Given the description of an element on the screen output the (x, y) to click on. 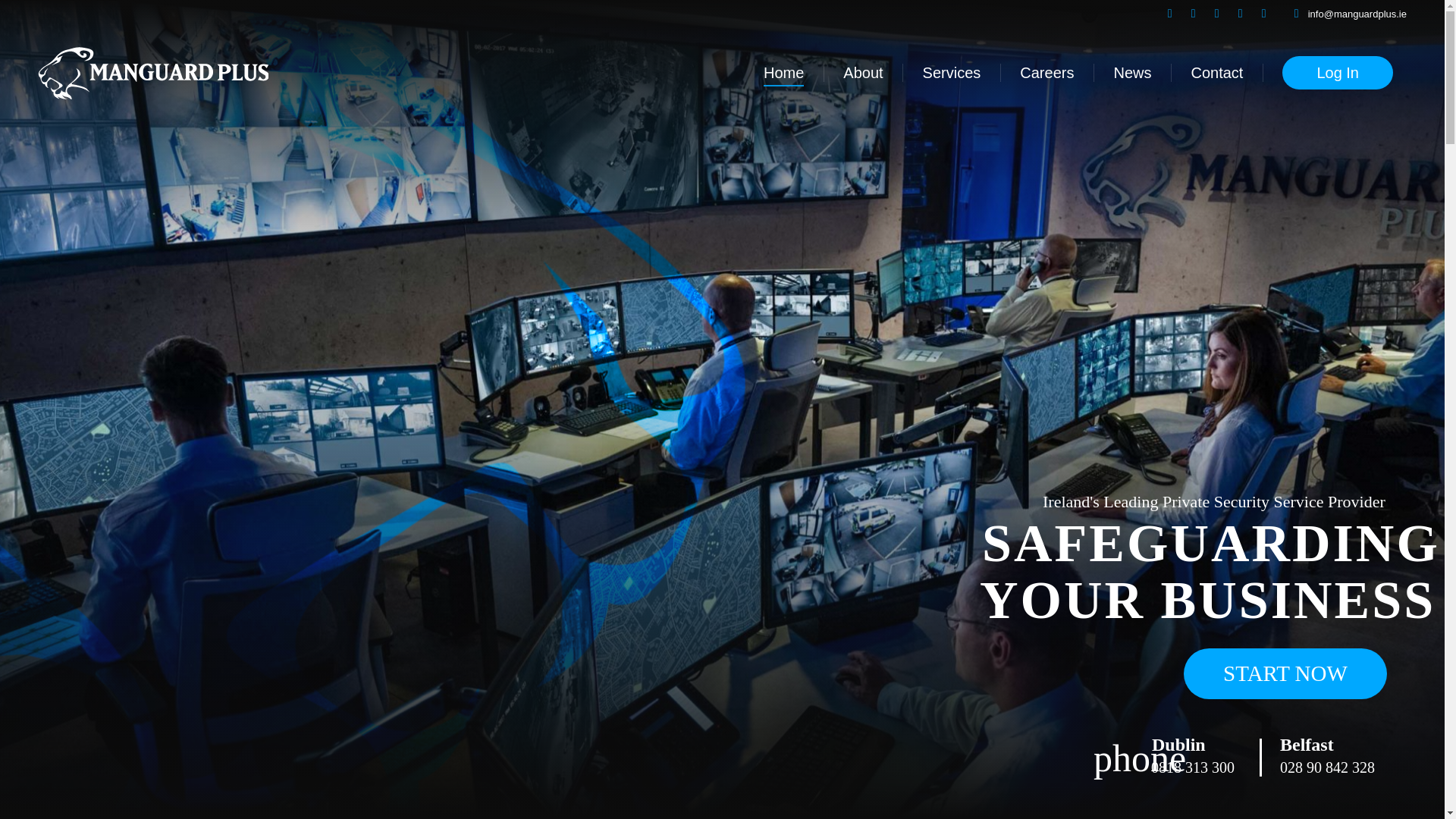
Careers (1046, 72)
YouTube page opens in new window (1263, 13)
Services (951, 72)
Linkedin page opens in new window (1169, 13)
Facebook page opens in new window (1193, 13)
X page opens in new window (1240, 13)
Log In (1337, 72)
Contact (1216, 72)
Home (782, 72)
News (1131, 72)
Instagram page opens in new window (1217, 13)
About (862, 72)
